Given the description of an element on the screen output the (x, y) to click on. 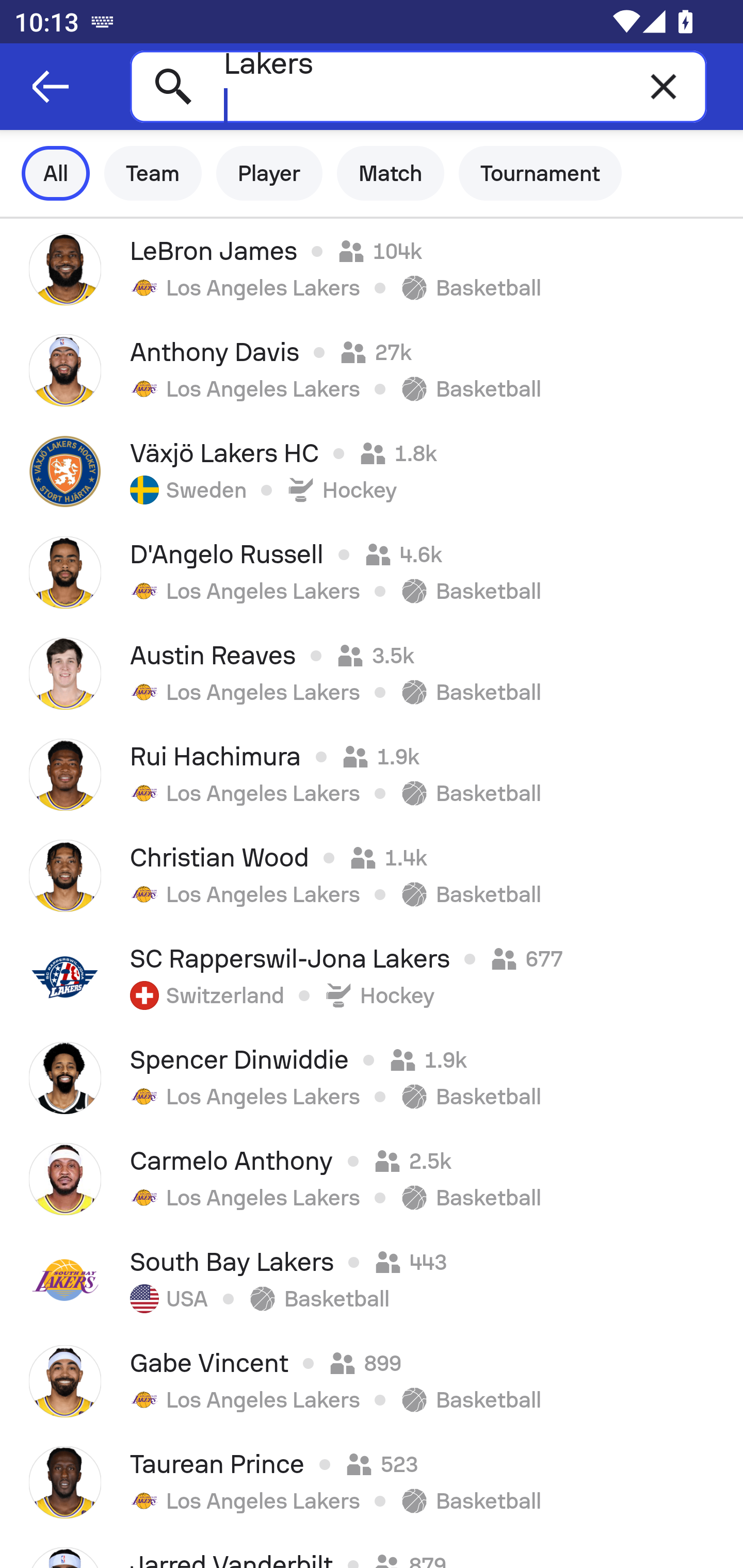
Navigate up (50, 86)
Lakers
 (418, 86)
Clear text (663, 86)
All (55, 172)
Team (152, 172)
Player (268, 172)
Match (390, 172)
Tournament (540, 172)
LeBron James 104k Los Angeles Lakers Basketball (371, 268)
Anthony Davis 27k Los Angeles Lakers Basketball (371, 369)
Växjö Lakers HC 1.8k Sweden Hockey (371, 471)
Austin Reaves 3.5k Los Angeles Lakers Basketball (371, 673)
Rui Hachimura 1.9k Los Angeles Lakers Basketball (371, 774)
Christian Wood 1.4k Los Angeles Lakers Basketball (371, 875)
SC Rapperswil-Jona Lakers 677 Switzerland Hockey (371, 976)
Carmelo Anthony 2.5k Los Angeles Lakers Basketball (371, 1178)
South Bay Lakers 443 USA Basketball (371, 1280)
Gabe Vincent 899 Los Angeles Lakers Basketball (371, 1381)
Taurean Prince 523 Los Angeles Lakers Basketball (371, 1482)
